Given the description of an element on the screen output the (x, y) to click on. 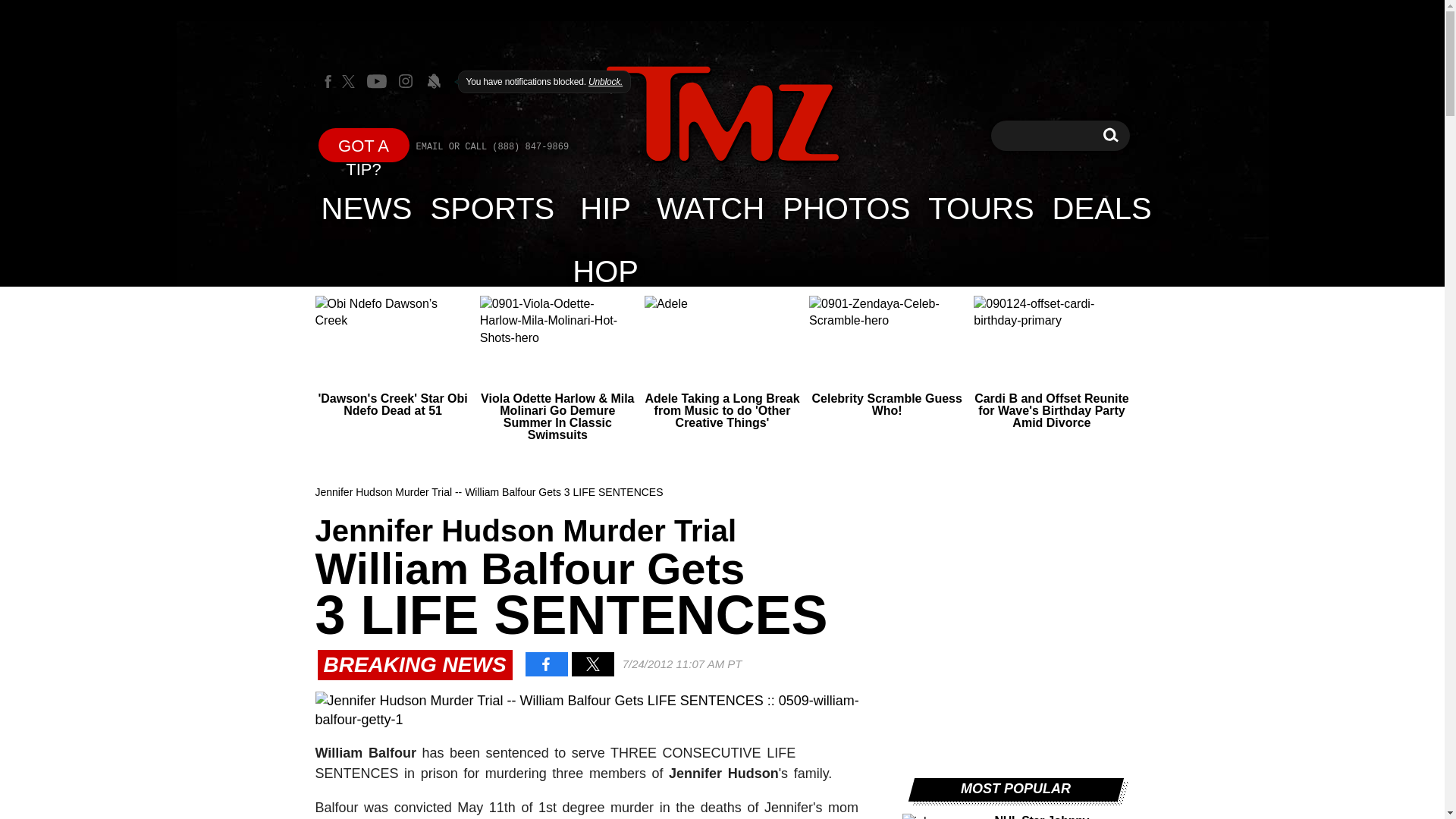
DEALS (1101, 207)
PHOTOS (845, 207)
NEWS (367, 207)
SPORTS (493, 207)
TOURS (980, 207)
GOT A TIP? (363, 144)
TMZ (722, 113)
WATCH (710, 207)
HIP HOP (605, 207)
